Given the description of an element on the screen output the (x, y) to click on. 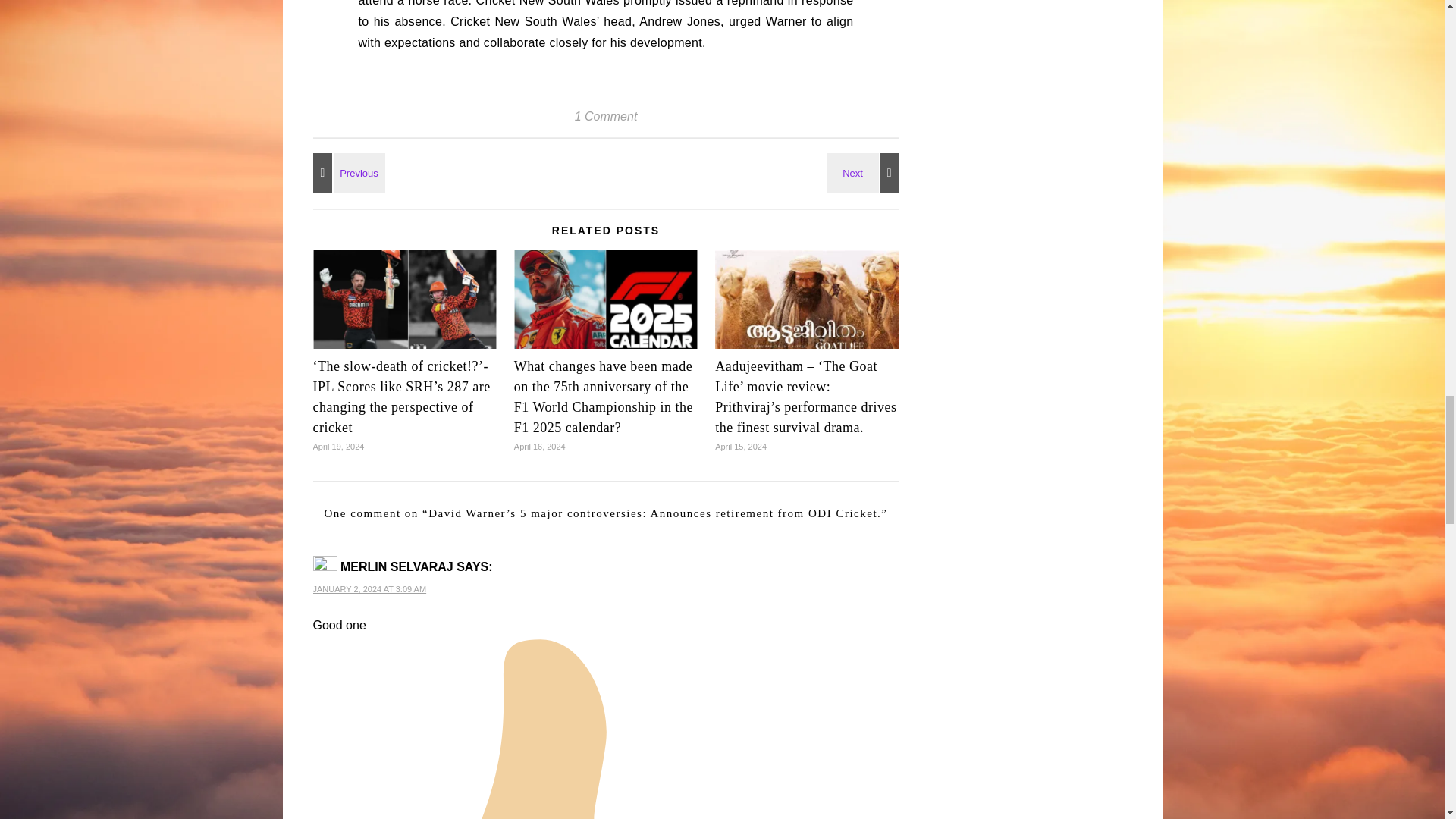
1 Comment (606, 115)
JANUARY 2, 2024 AT 3:09 AM (369, 588)
BOX OFFICE SHOWDOWN: SALAAR VS DUNKI: WHICH WILL WIN? (346, 172)
